Given the description of an element on the screen output the (x, y) to click on. 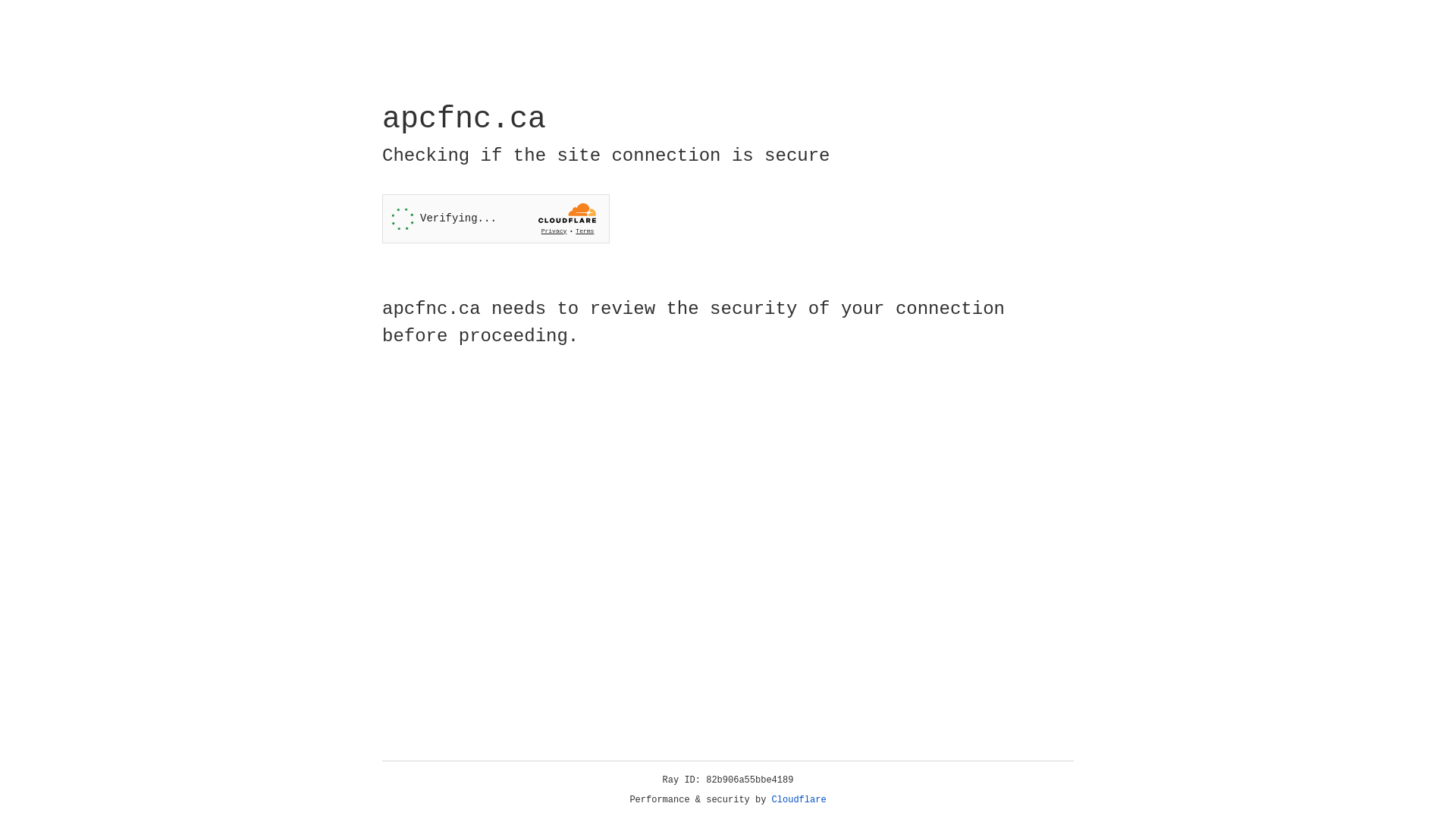
Widget containing a Cloudflare security challenge Element type: hover (495, 218)
Cloudflare Element type: text (798, 799)
